Given the description of an element on the screen output the (x, y) to click on. 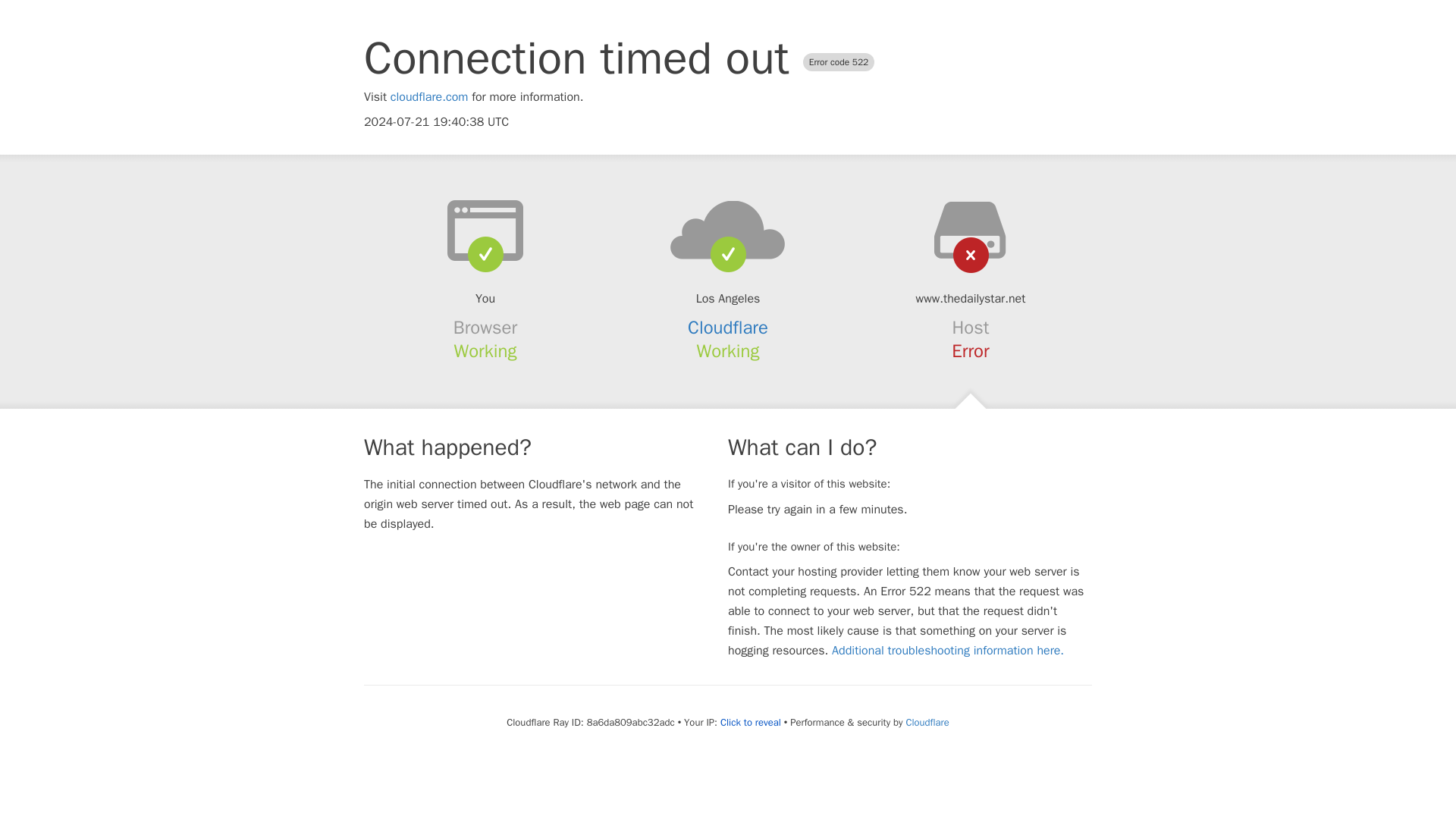
Cloudflare (727, 327)
Cloudflare (927, 721)
Click to reveal (750, 722)
cloudflare.com (429, 96)
Additional troubleshooting information here. (947, 650)
